Given the description of an element on the screen output the (x, y) to click on. 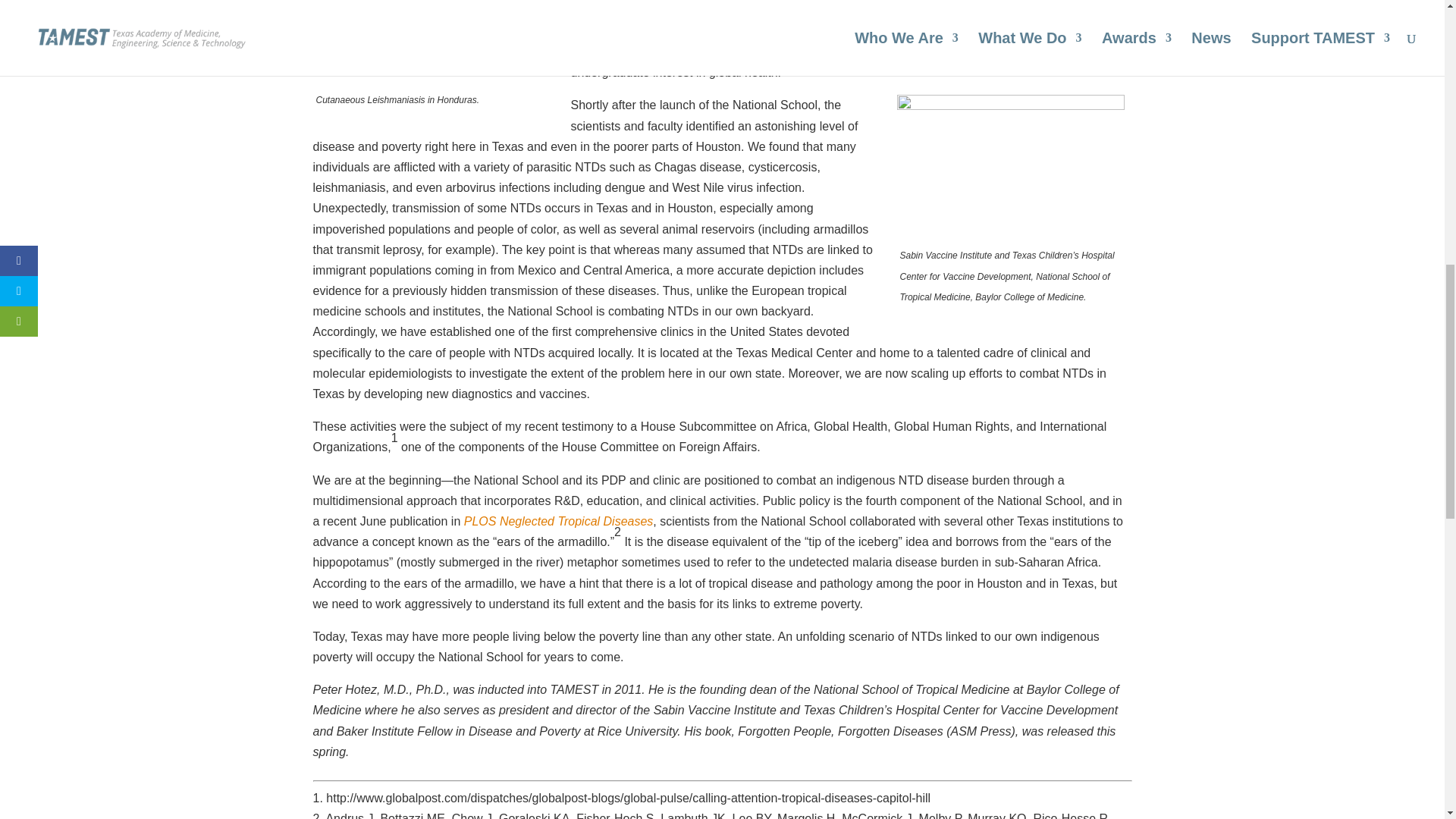
PLOS Neglected Tropical Diseases (558, 521)
